Given the description of an element on the screen output the (x, y) to click on. 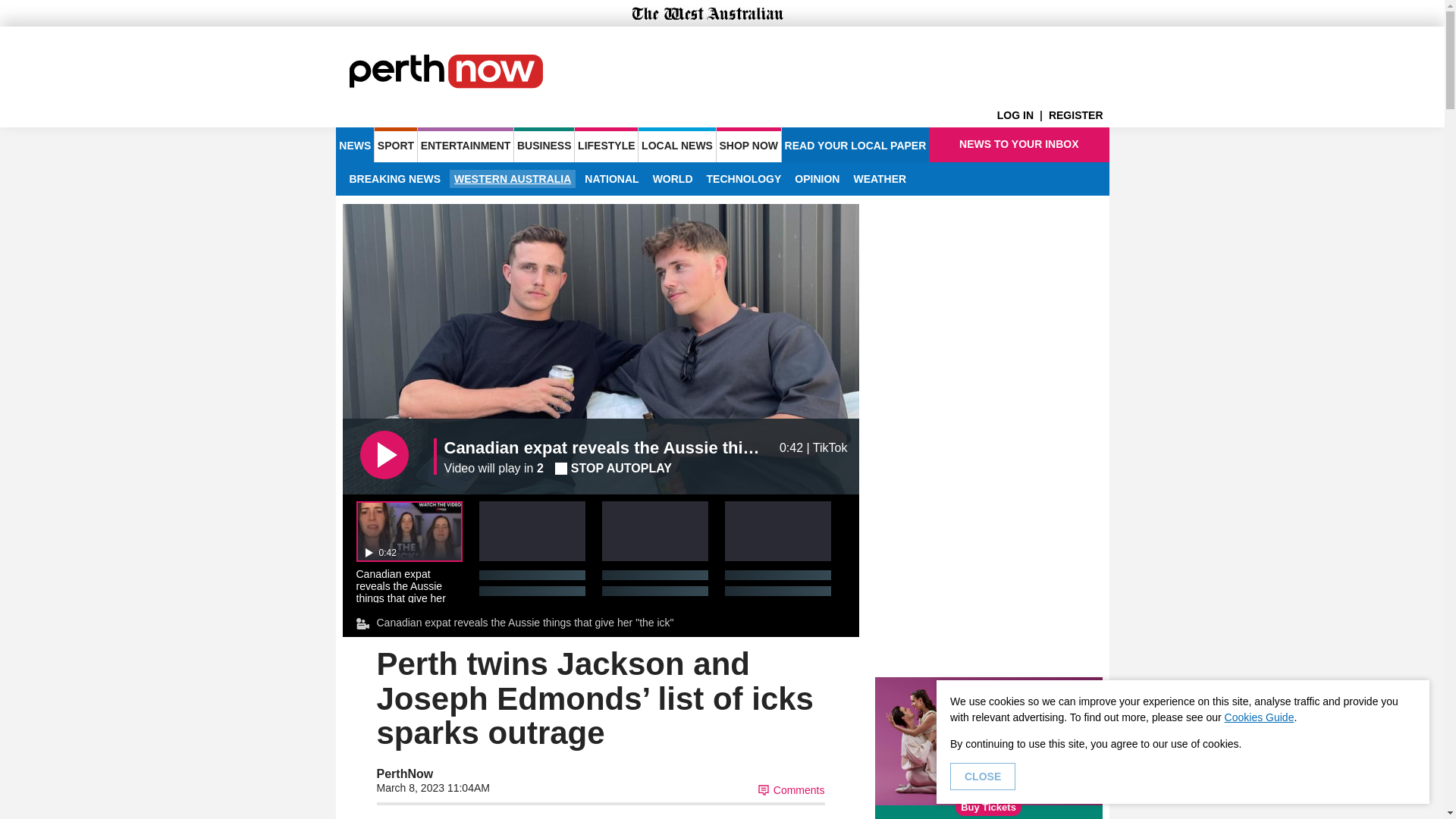
NEWS (354, 144)
SPORT (395, 144)
Play Video (383, 454)
REGISTER (1078, 115)
LOG IN (1022, 115)
ENTERTAINMENT (465, 144)
